Given the description of an element on the screen output the (x, y) to click on. 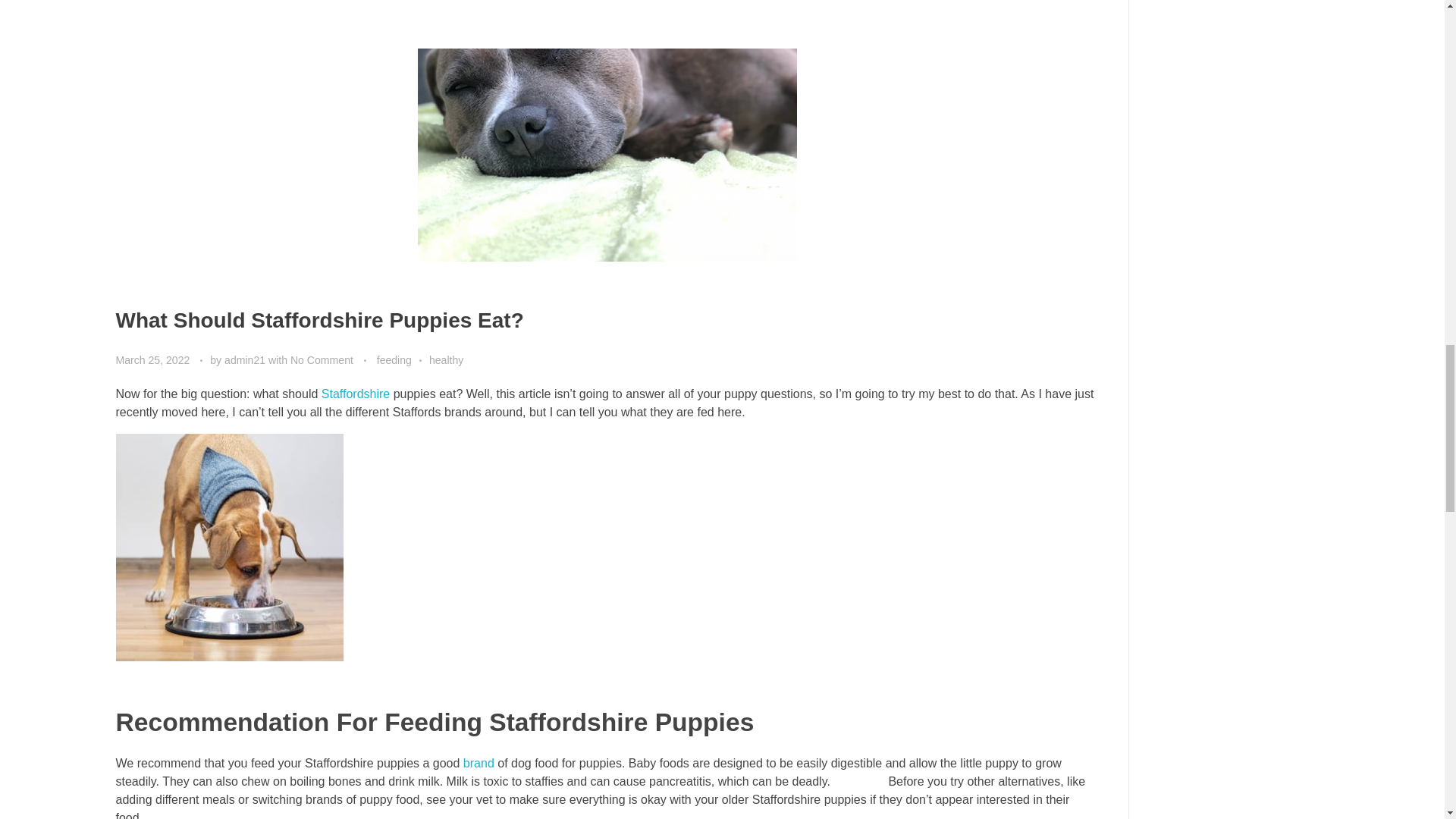
chivas 21 (858, 780)
View all posts in feeding (403, 360)
feeding (403, 360)
healthy (446, 360)
Staffordshire (355, 393)
March 25, 2022 (153, 359)
No Comment (321, 359)
What Should Staffordshire Puppies Eat? (318, 320)
admin21 (245, 359)
View all posts in healthy (446, 360)
